Given the description of an element on the screen output the (x, y) to click on. 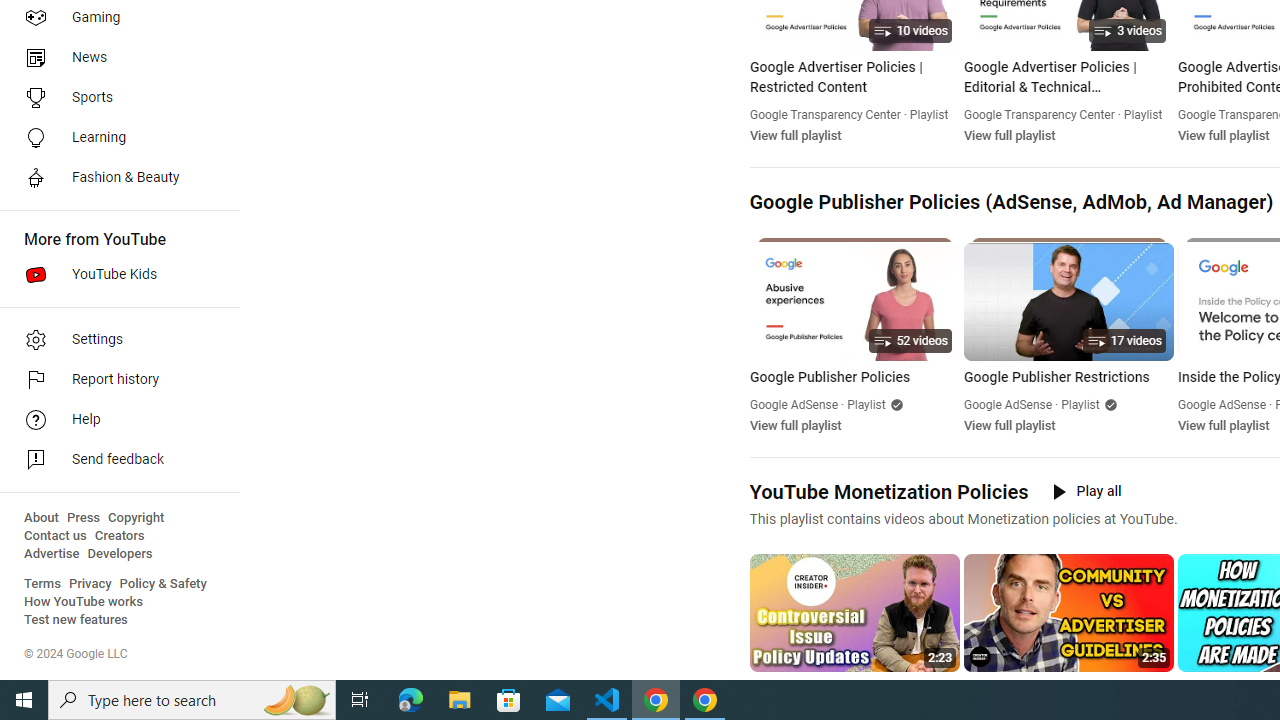
Developers (120, 554)
Terms (42, 584)
Send feedback (113, 459)
Google Publisher Restrictions (1067, 377)
Google Publisher Policies (854, 377)
Press (83, 518)
Copyright (136, 518)
How YouTube works (83, 602)
Fashion & Beauty (113, 177)
Sports (113, 97)
Creators (118, 536)
Verified (1108, 403)
Settings (113, 339)
About (41, 518)
Google Transparency Center (1039, 114)
